Given the description of an element on the screen output the (x, y) to click on. 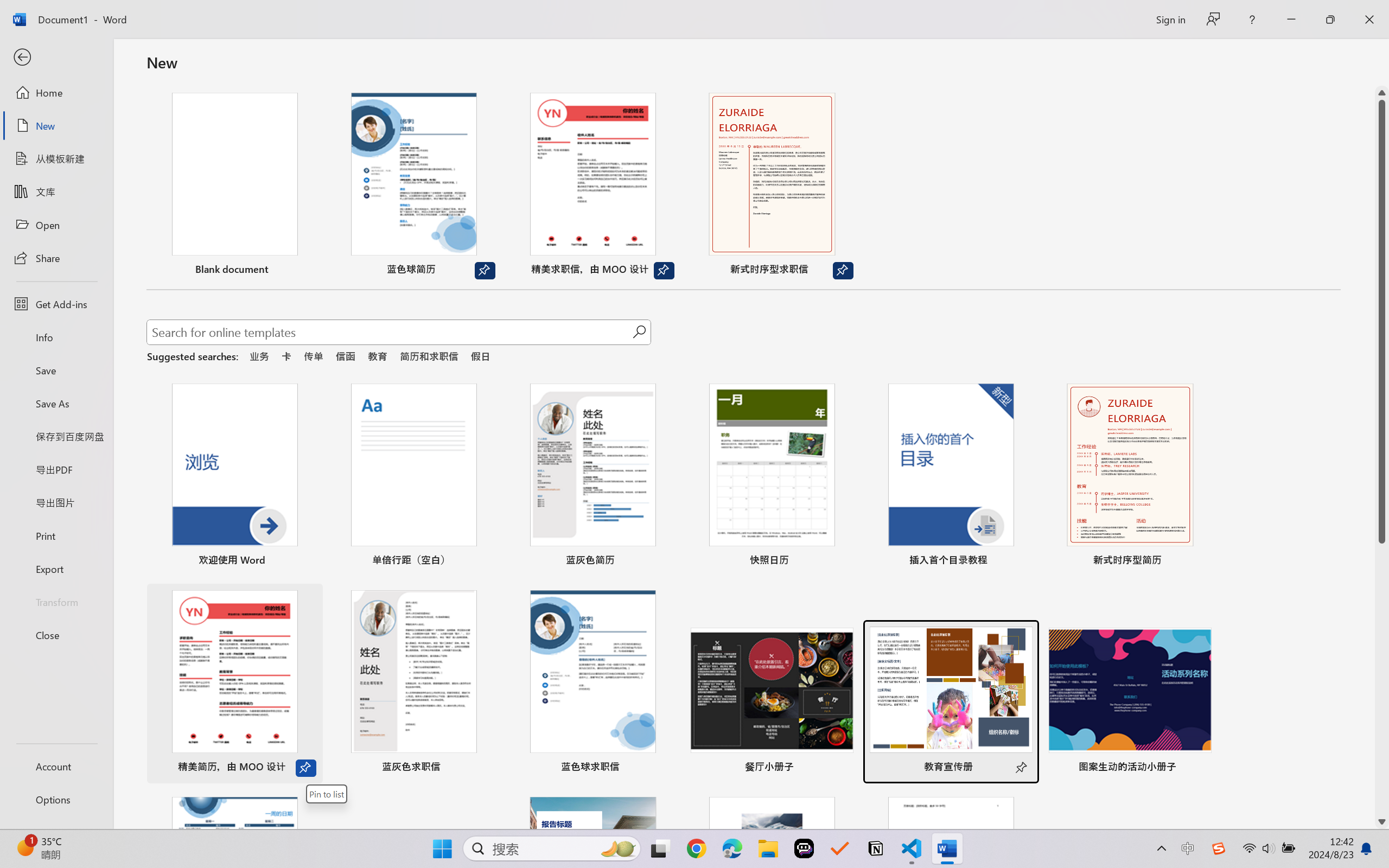
Options (56, 798)
Save As (56, 403)
Search for online templates (389, 333)
Line down (1382, 821)
New (56, 125)
Print (56, 535)
